Given the description of an element on the screen output the (x, y) to click on. 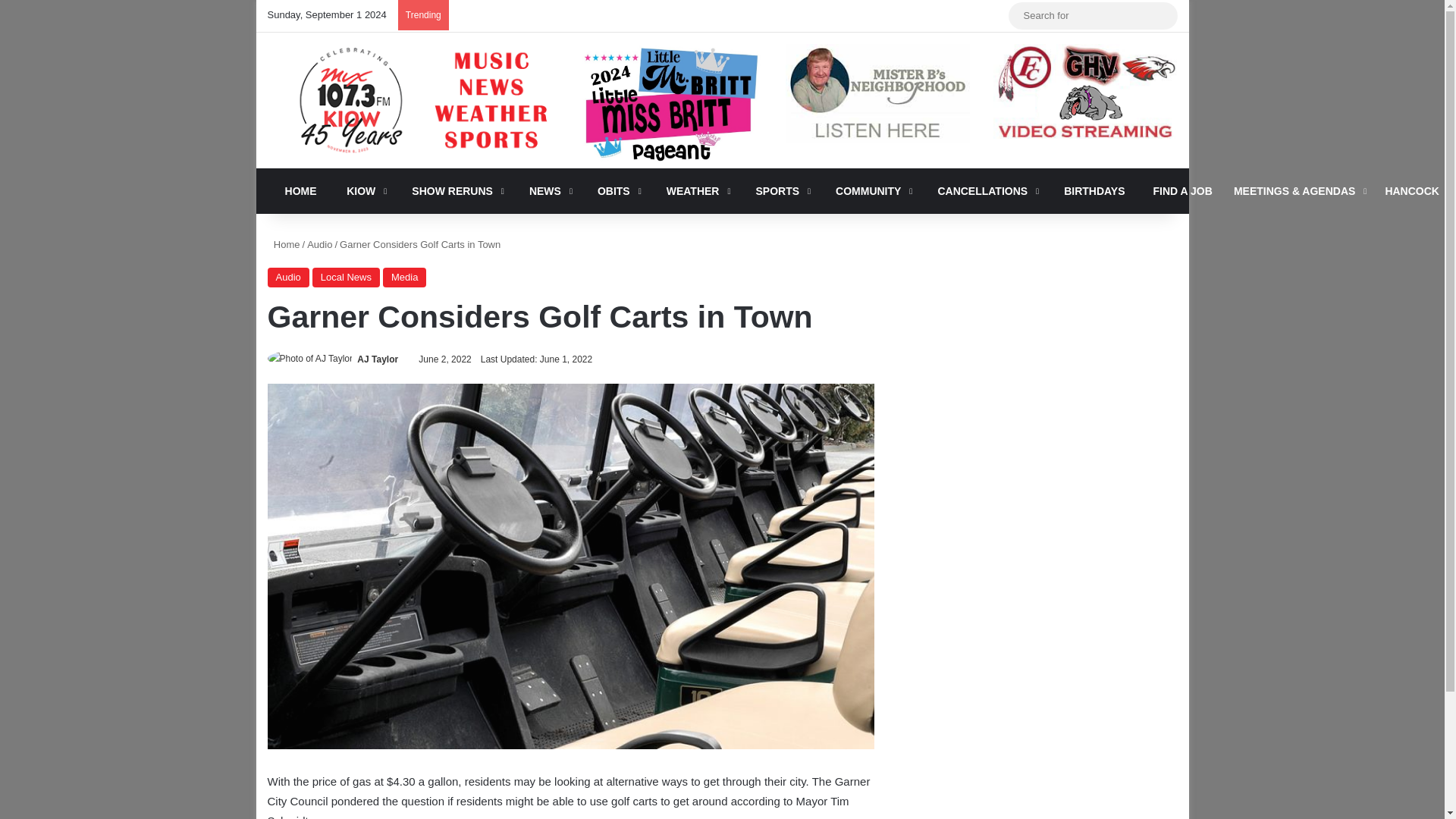
KIOW (360, 190)
NEWS (545, 190)
SHOW RERUNS (453, 190)
HOME (296, 190)
Mix 107.3 KIOW (410, 100)
Search for (1161, 15)
Search for (1093, 15)
AJ Taylor (376, 358)
